Given the description of an element on the screen output the (x, y) to click on. 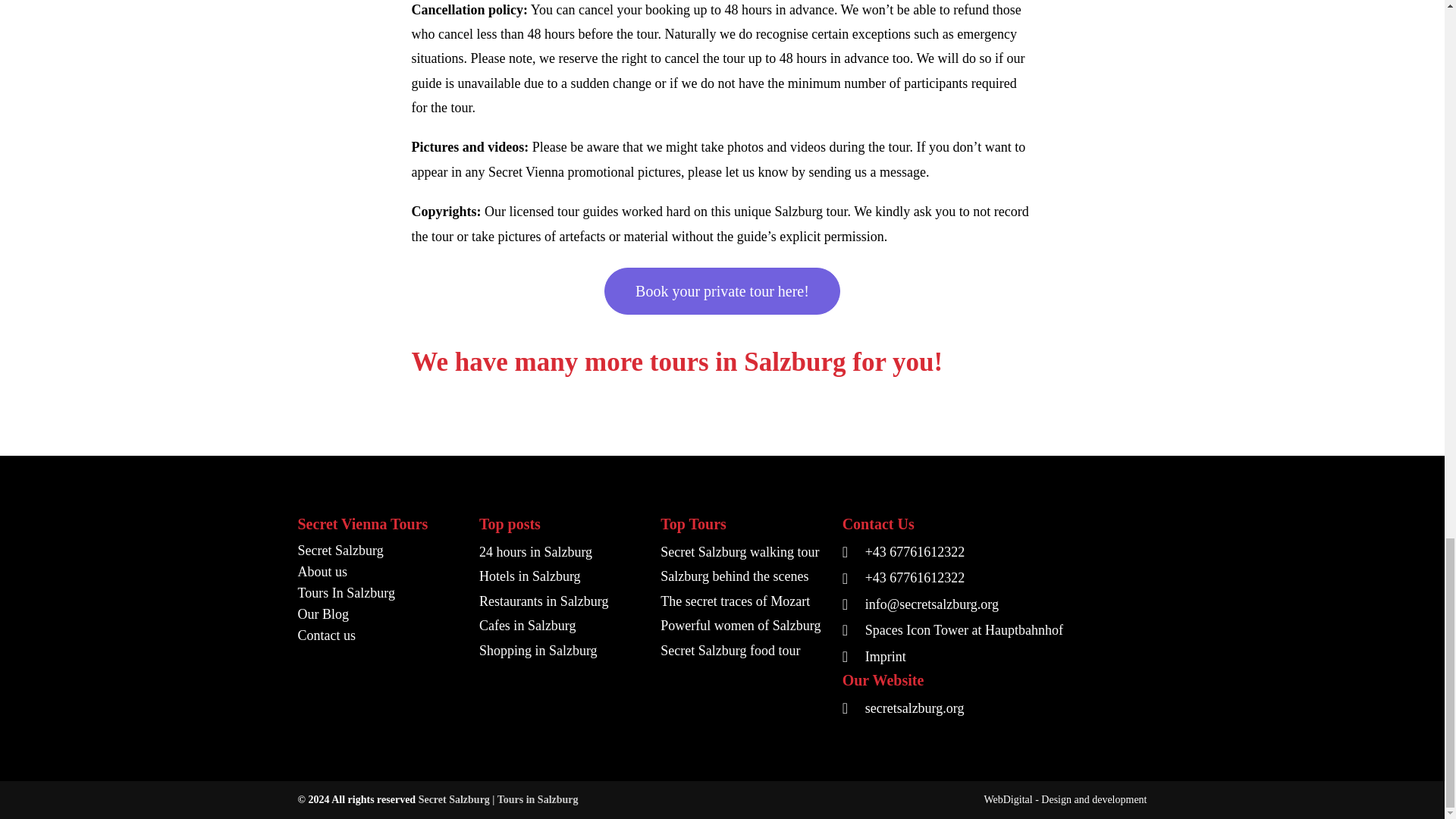
Restaurants in Salzburg (562, 600)
Secret Salzburg (380, 550)
Hotels in Salzburg (562, 576)
Tours In Salzburg (380, 592)
About us (380, 571)
24 hours in Salzburg (562, 551)
Our Blog (380, 613)
Cafes in Salzburg (562, 625)
Contact us (380, 635)
Book your private tour here! (722, 290)
